Given the description of an element on the screen output the (x, y) to click on. 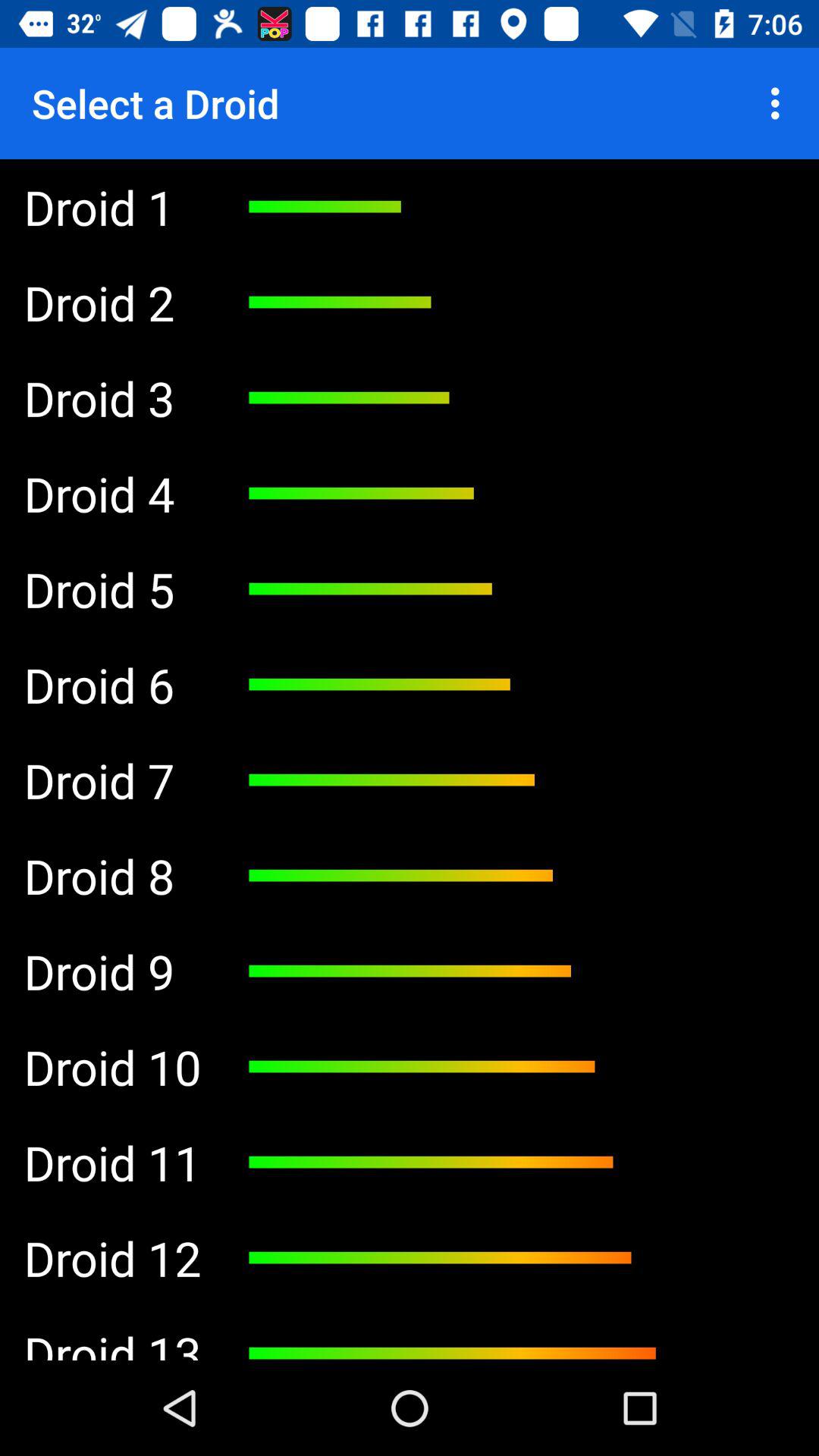
turn on the item below droid 20 icon (112, 493)
